Given the description of an element on the screen output the (x, y) to click on. 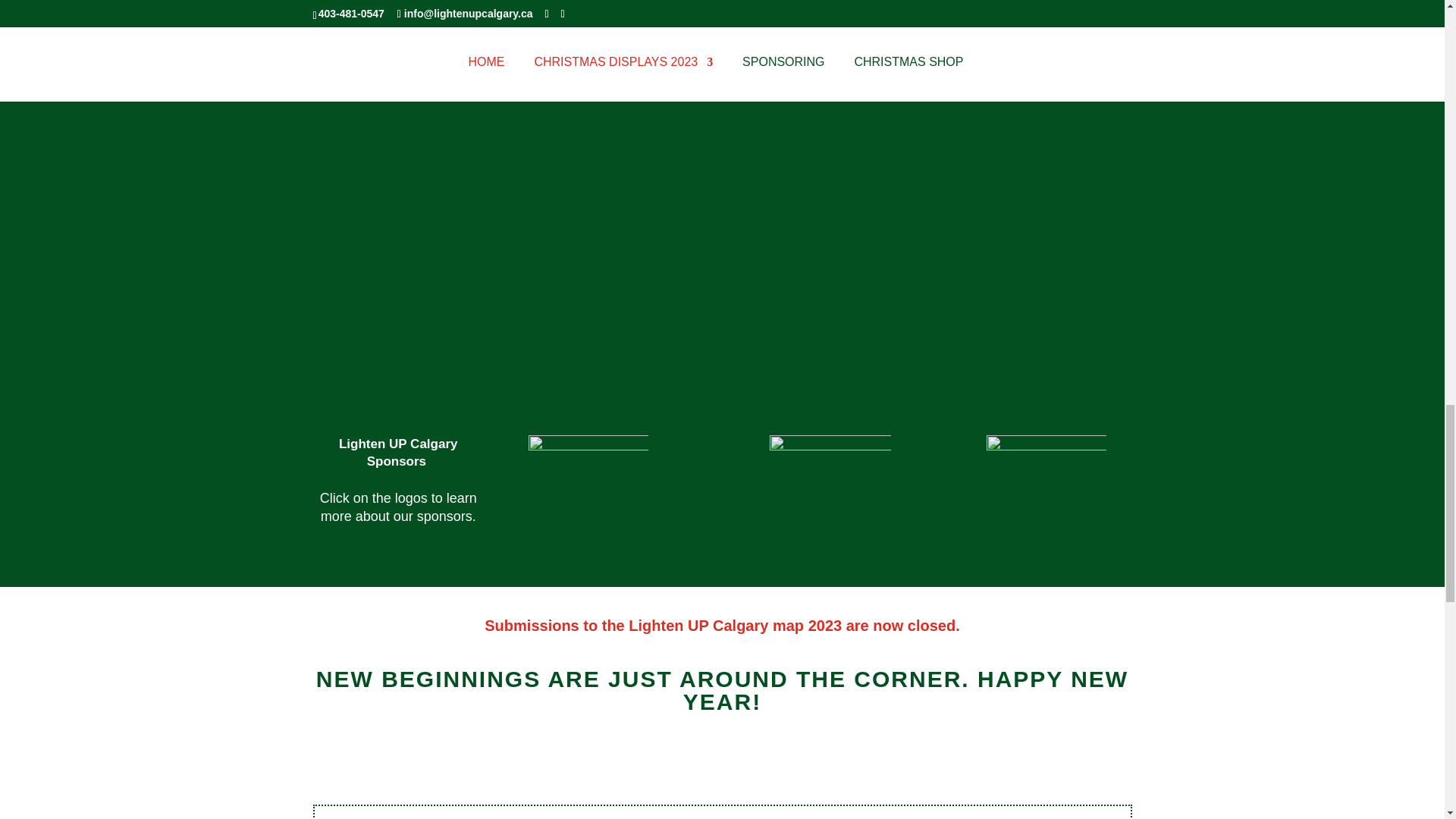
Xentas Inc. Technology and Design 300px (830, 495)
new logo cropped (587, 494)
GCD logo color (1046, 494)
